Given the description of an element on the screen output the (x, y) to click on. 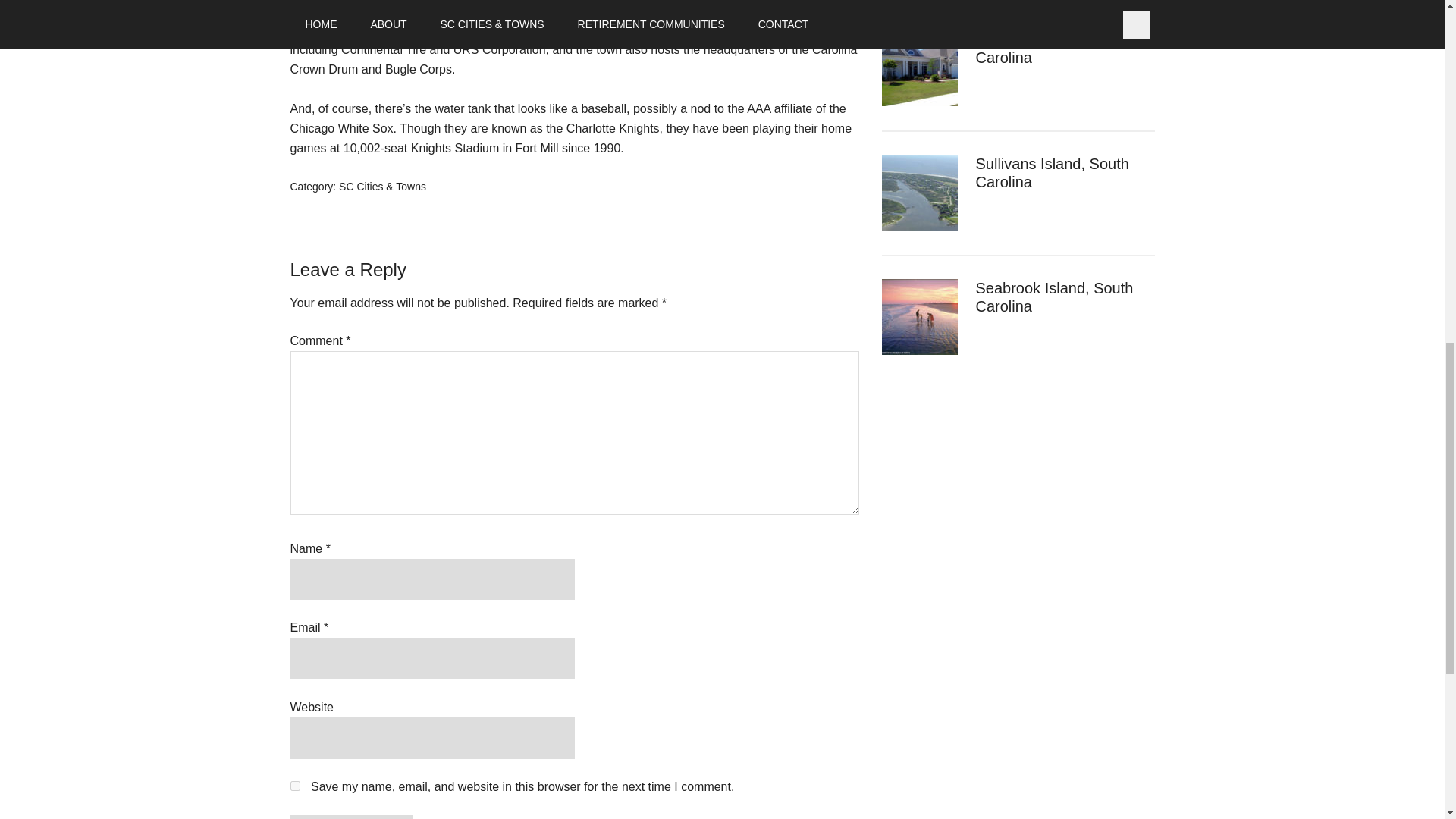
Summerville, South Carolina (1040, 48)
Sullivans Island, South Carolina (1051, 172)
Post Comment (350, 816)
Seabrook Island, South Carolina (1053, 297)
Post Comment (350, 816)
yes (294, 786)
